Given the description of an element on the screen output the (x, y) to click on. 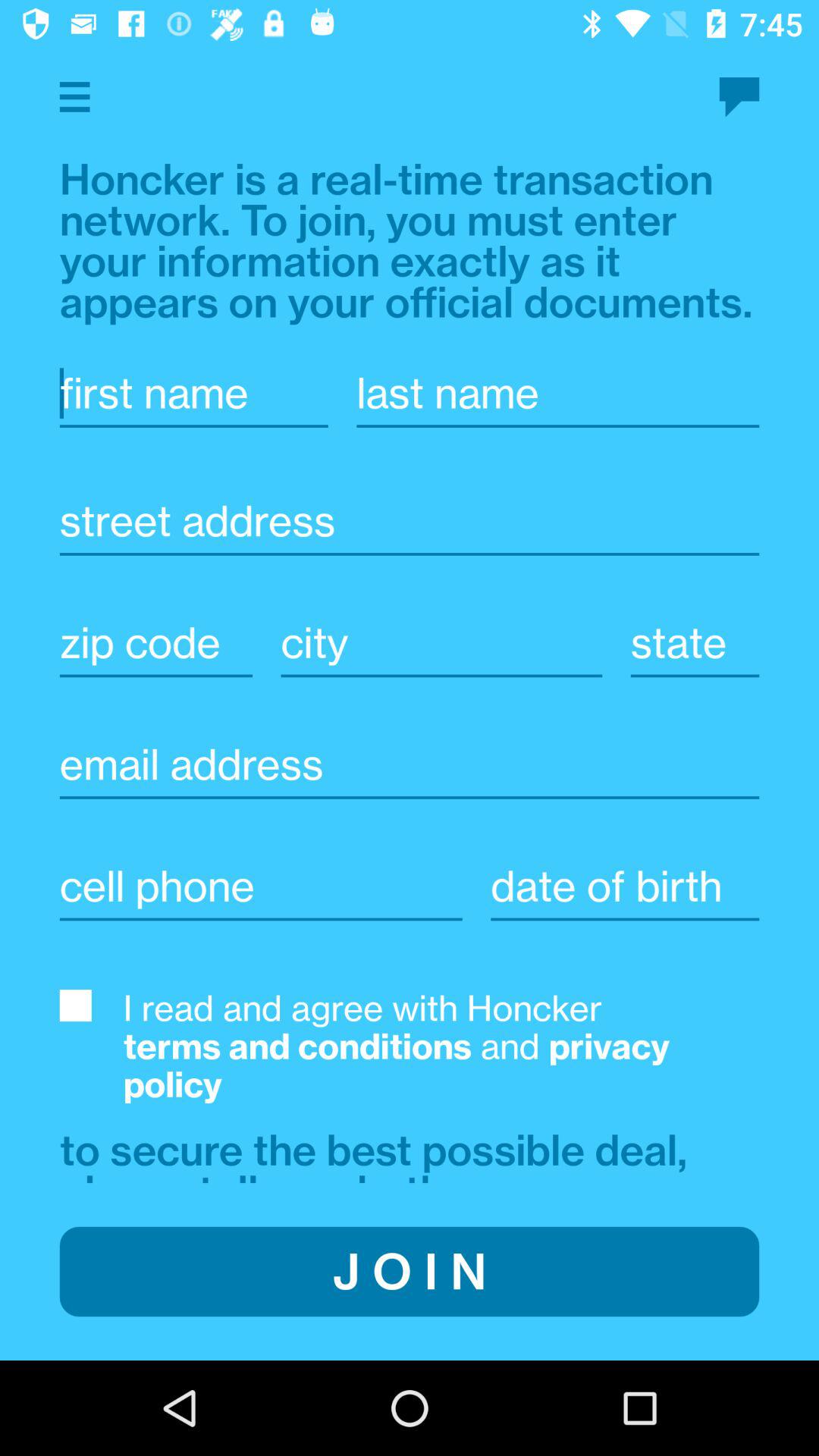
select cell phone (260, 886)
click on city name field (441, 642)
click on the cell phone option (260, 911)
go to the street address field (409, 546)
select the text above first name (409, 241)
select the text line  which says city (441, 668)
